Given the description of an element on the screen output the (x, y) to click on. 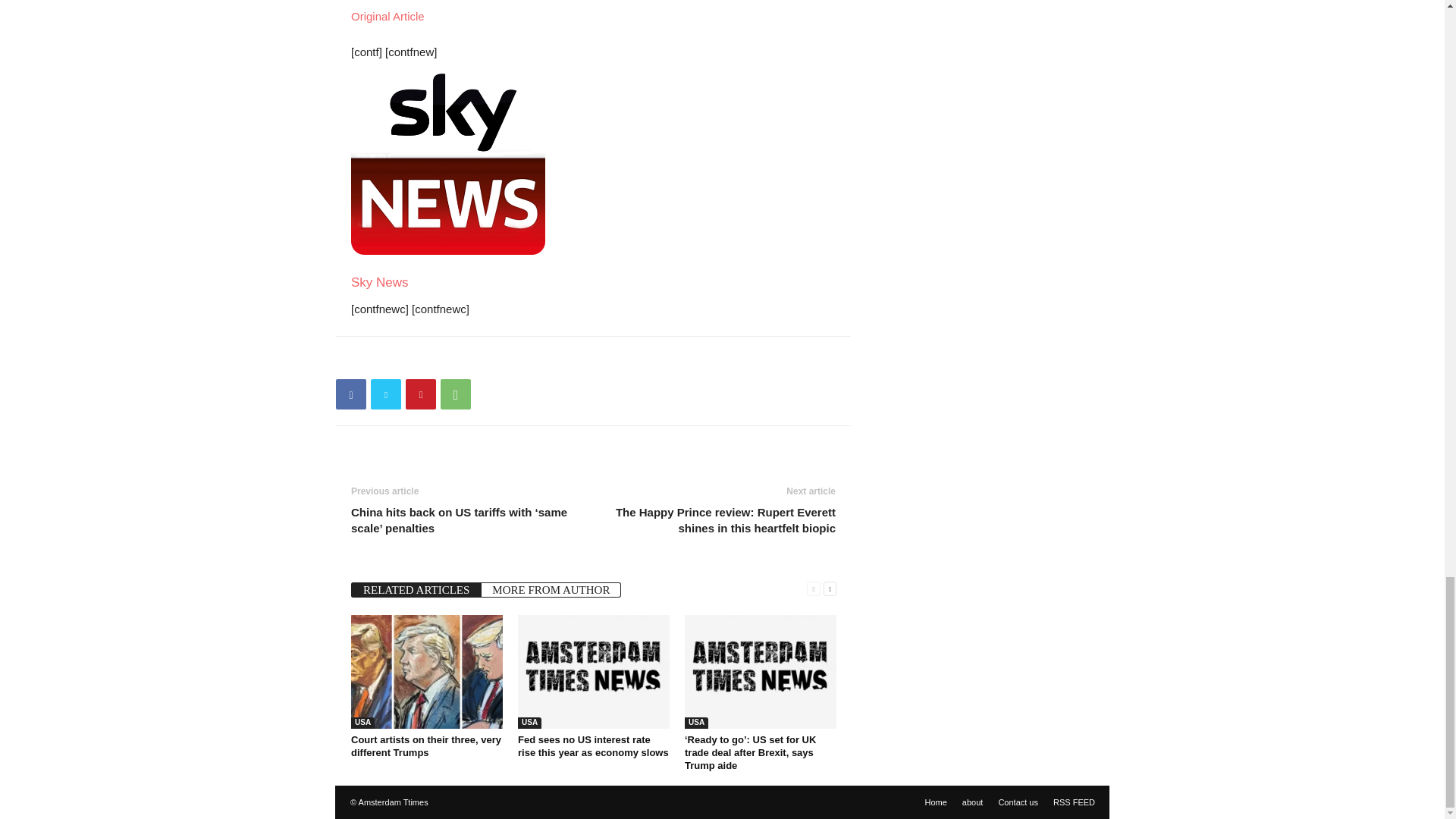
Facebook (351, 394)
Twitter (386, 394)
Pinterest (420, 394)
WhatsApp (455, 394)
Court artists on their three, very different Trumps (426, 671)
